Given the description of an element on the screen output the (x, y) to click on. 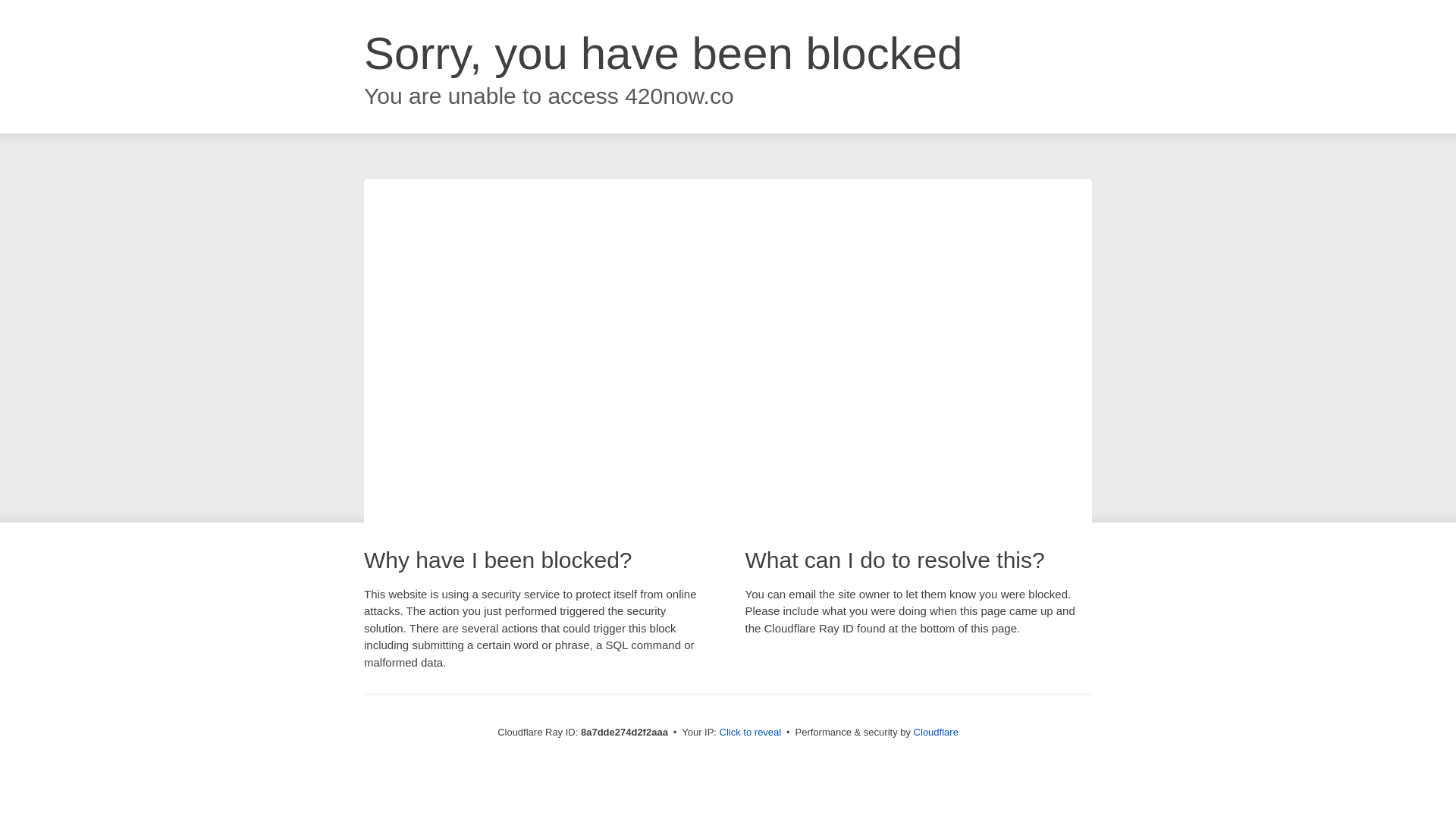
Cloudflare (936, 731)
Click to reveal (750, 732)
